Given the description of an element on the screen output the (x, y) to click on. 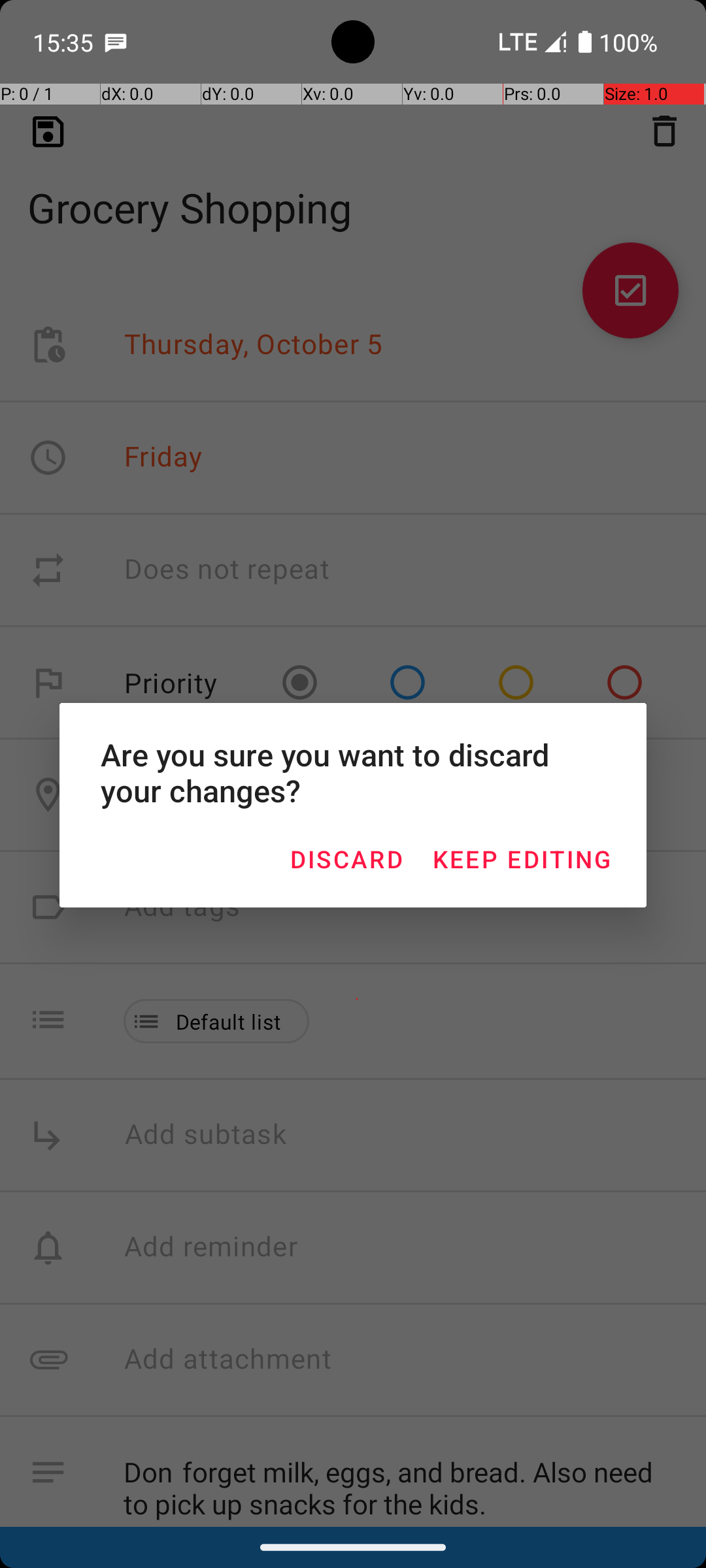
Are you sure you want to discard your changes? Element type: android.widget.TextView (352, 771)
DISCARD Element type: android.widget.Button (345, 858)
KEEP EDITING Element type: android.widget.Button (521, 858)
